Given the description of an element on the screen output the (x, y) to click on. 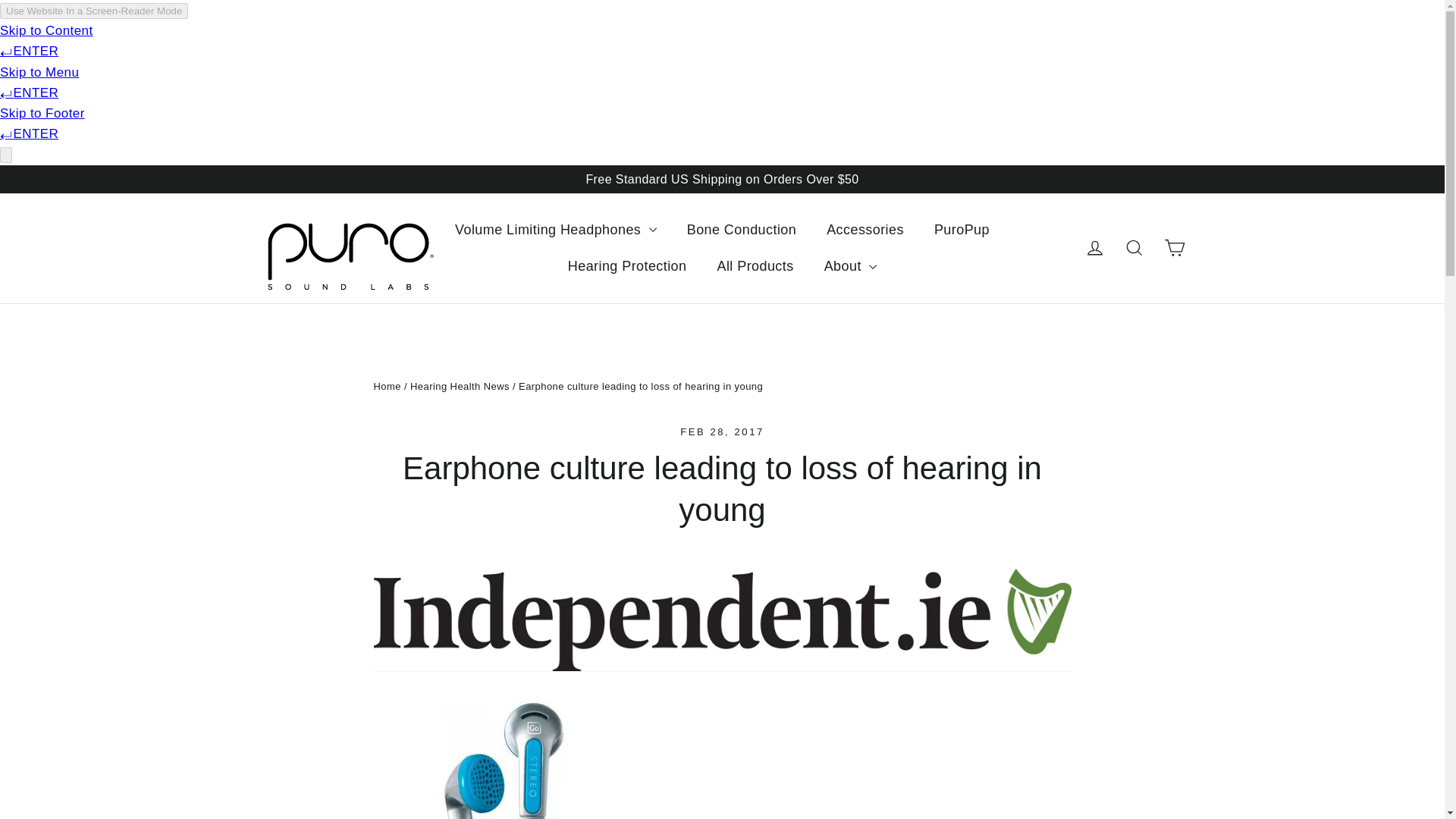
PuroPup (961, 229)
Back to the frontpage (386, 385)
About (850, 266)
Hearing Protection (627, 266)
All Products (755, 266)
Bone Conduction (740, 229)
Volume Limiting Headphones (555, 229)
Accessories (864, 229)
